Given the description of an element on the screen output the (x, y) to click on. 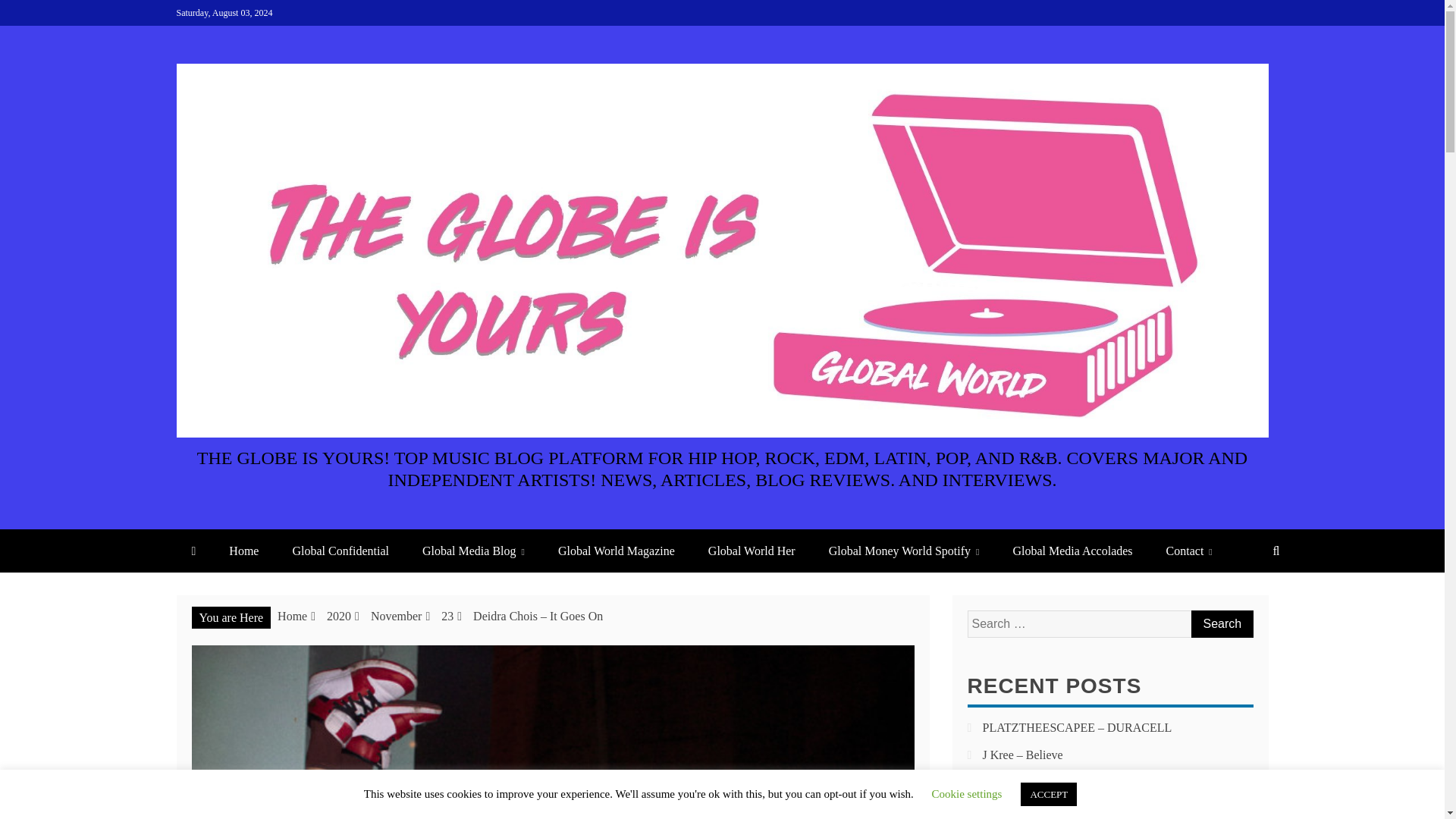
Home (292, 615)
Home (243, 550)
Global Media Accolades (1072, 550)
Global Money World Spotify (903, 550)
Global Media Blog (473, 550)
2020 (338, 615)
23 (446, 615)
Global World Her (751, 550)
Global Confidential (340, 550)
Contact (1189, 550)
November (396, 615)
Search (1221, 624)
Global World Magazine (616, 550)
Search (1221, 624)
